Given the description of an element on the screen output the (x, y) to click on. 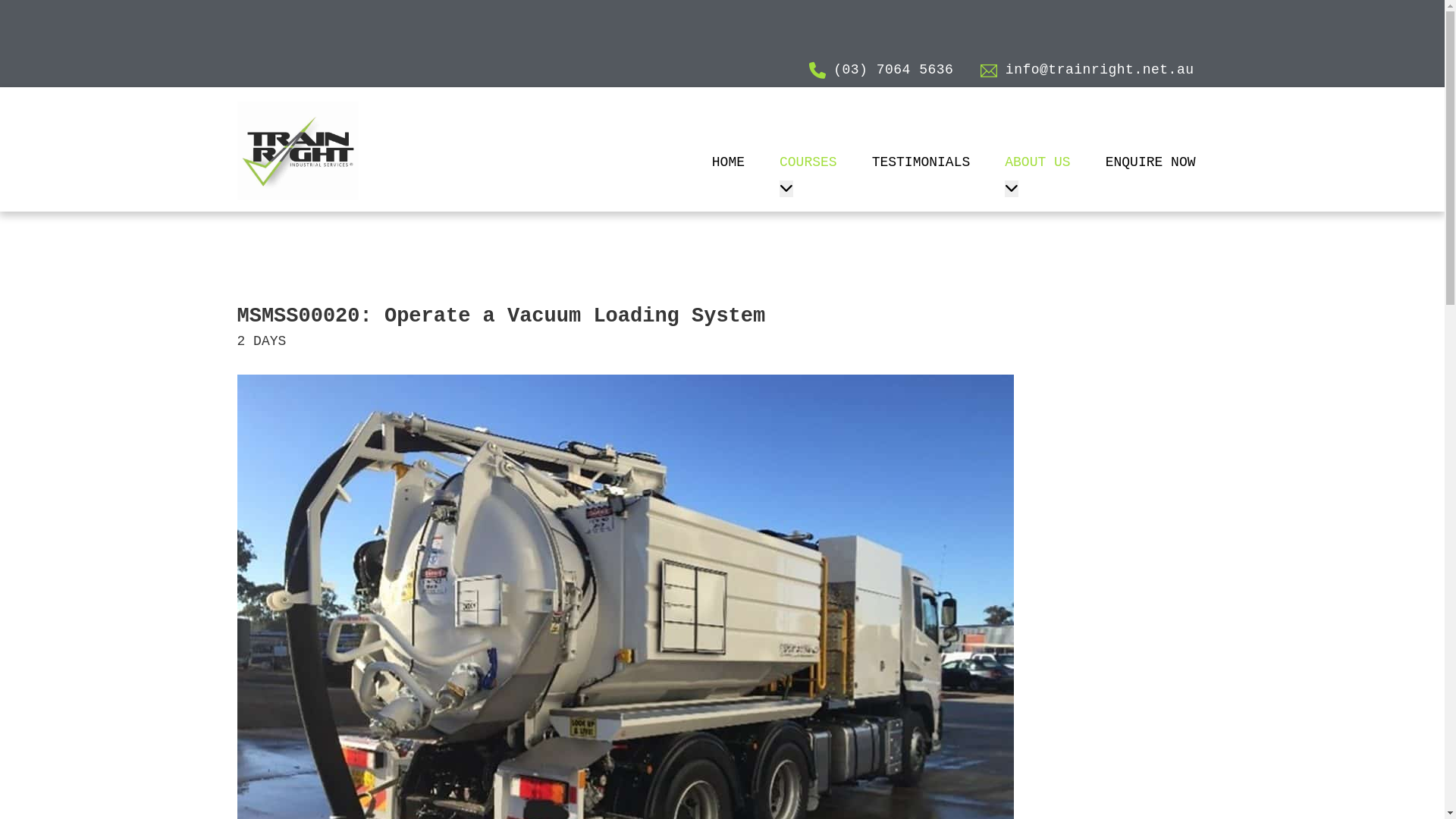
COURSES Element type: text (808, 165)
ENQUIRE NOW Element type: text (1150, 165)
info@trainright.net.au Element type: text (1086, 70)
ABOUT US Element type: text (1037, 165)
(03) 7064 5636 Element type: text (881, 70)
TESTIMONIALS Element type: text (921, 165)
HOME Element type: text (728, 165)
